Given the description of an element on the screen output the (x, y) to click on. 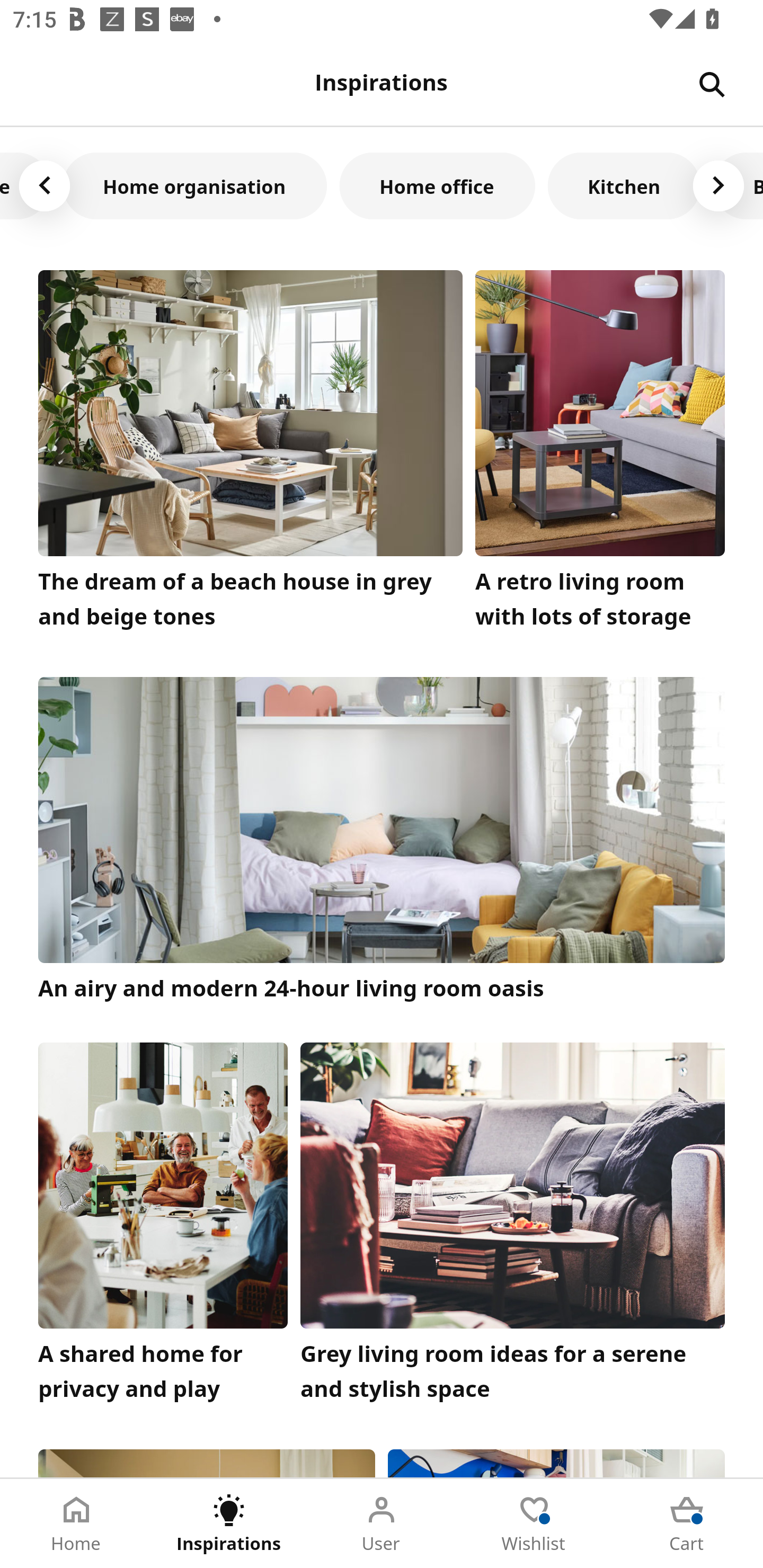
Home organisation (194, 185)
Home office (436, 185)
Kitchen (623, 185)
The dream of a beach house in grey and beige tones (250, 453)
A retro living room with lots of storage (599, 453)
An airy and modern 24-hour living room oasis (381, 841)
A shared home for privacy and play (162, 1226)
Home
Tab 1 of 5 (76, 1522)
Inspirations
Tab 2 of 5 (228, 1522)
User
Tab 3 of 5 (381, 1522)
Wishlist
Tab 4 of 5 (533, 1522)
Cart
Tab 5 of 5 (686, 1522)
